Given the description of an element on the screen output the (x, y) to click on. 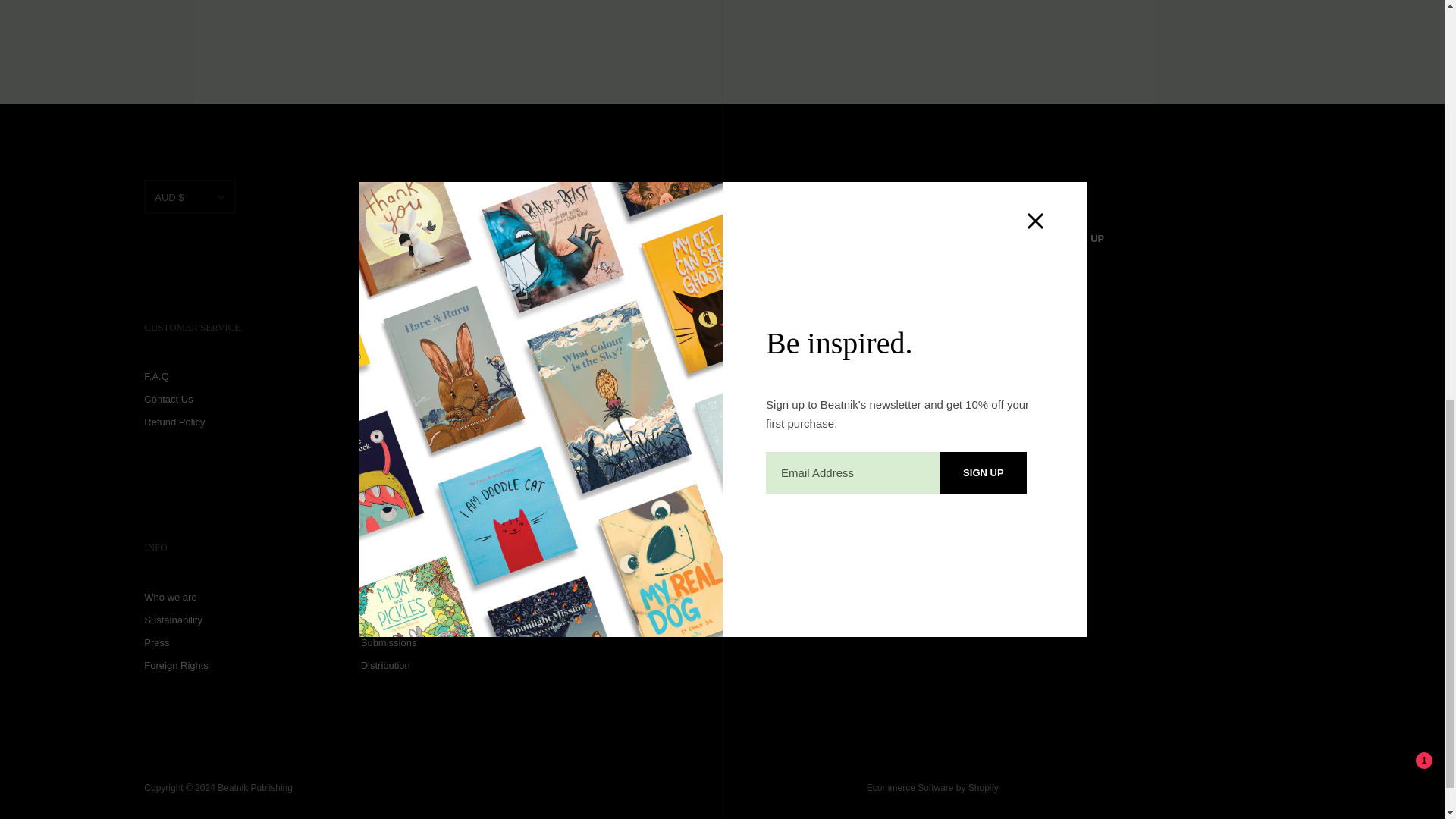
Privacy Policy (949, 303)
